Given the description of an element on the screen output the (x, y) to click on. 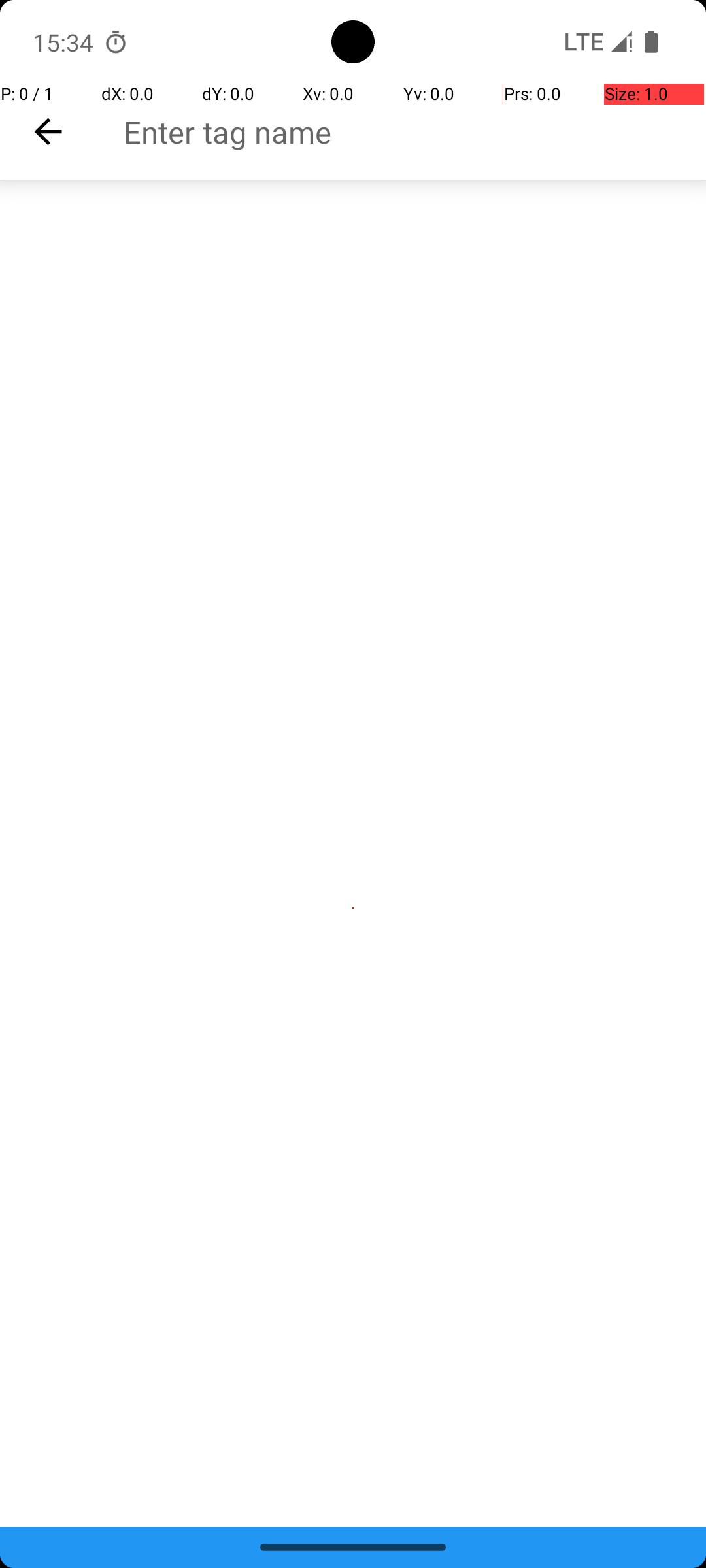
Enter tag name Element type: android.widget.EditText (414, 131)
